Given the description of an element on the screen output the (x, y) to click on. 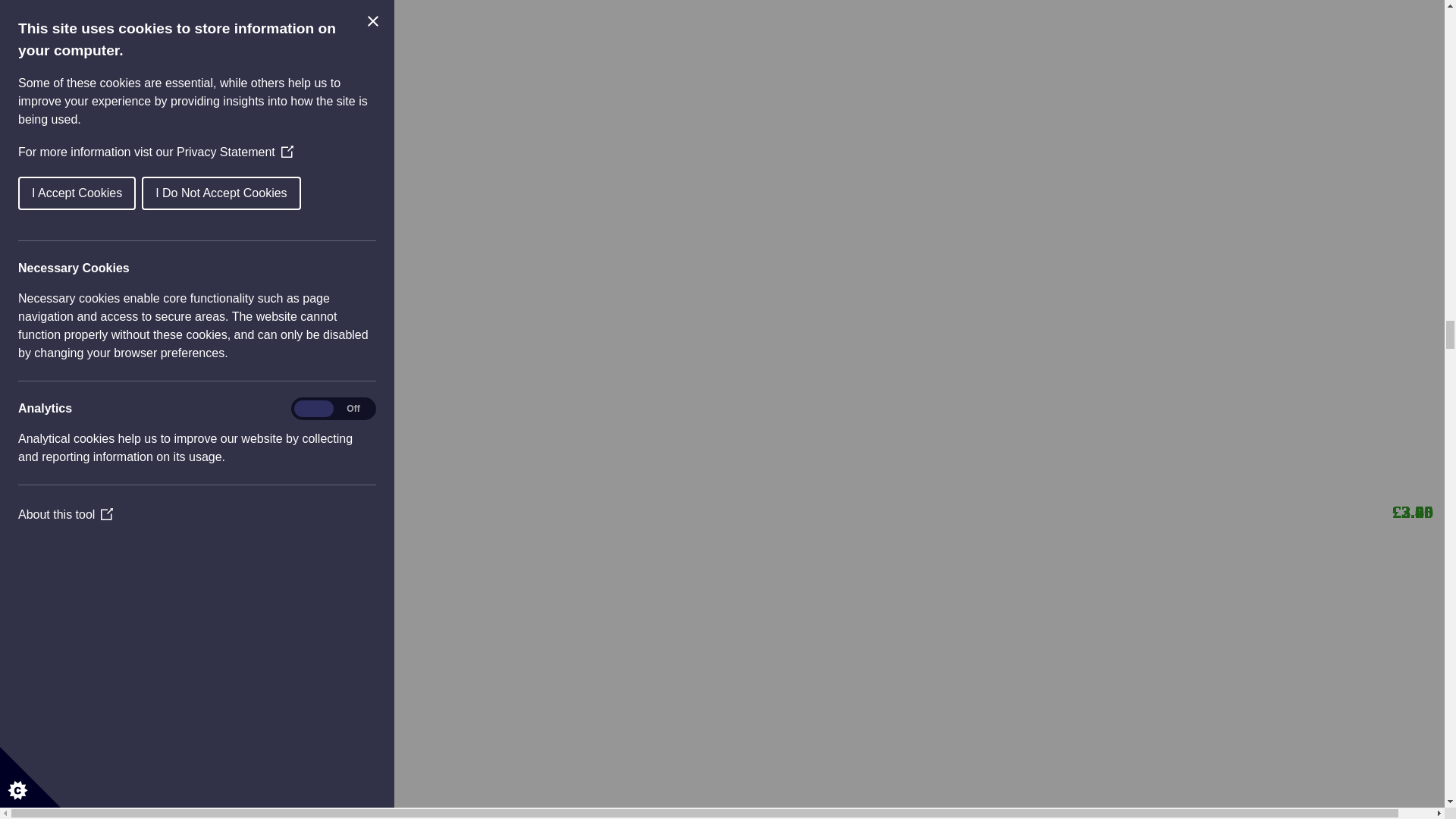
01 (92, 421)
